Given the description of an element on the screen output the (x, y) to click on. 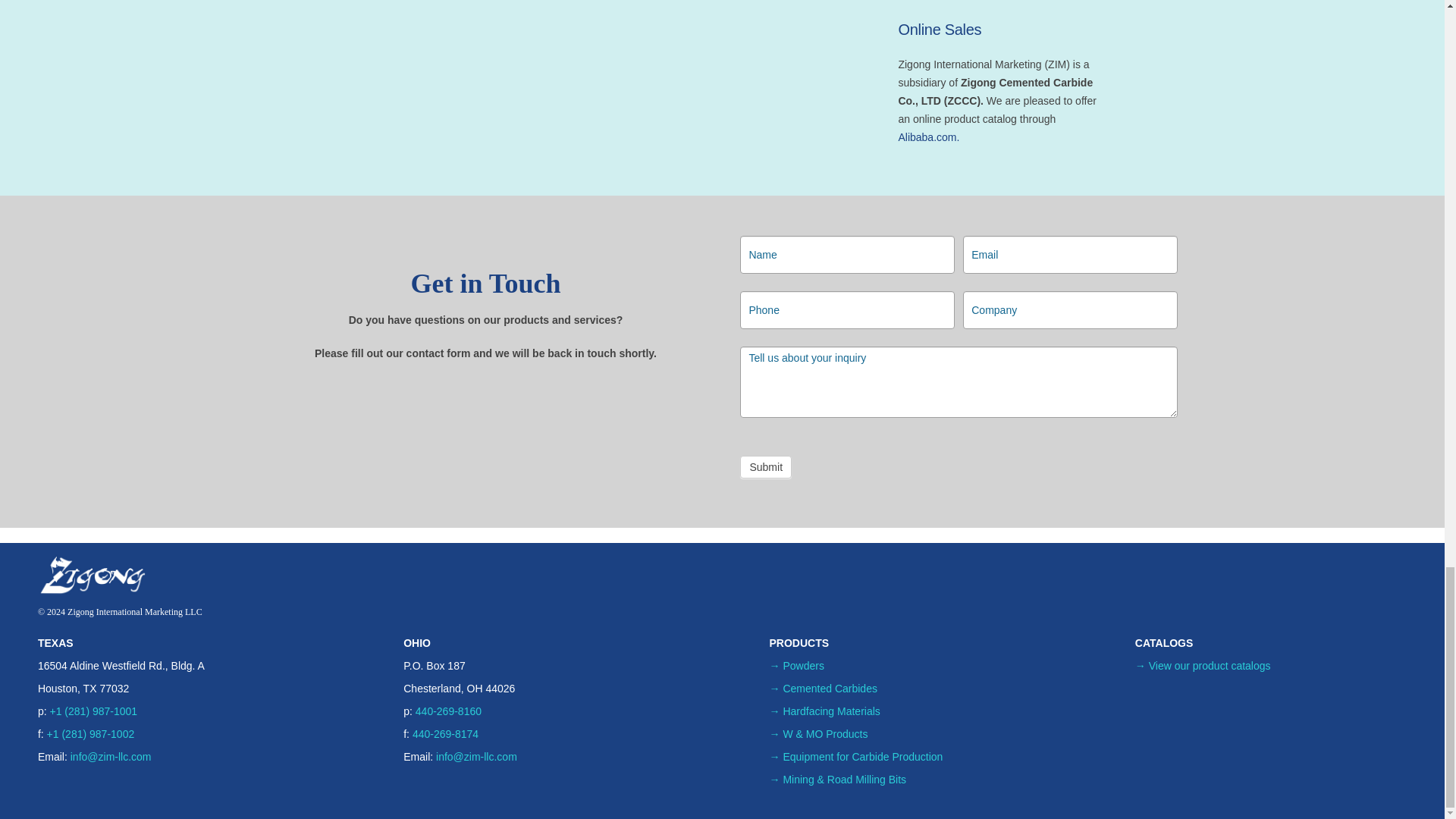
YouTube video player 1 (484, 88)
